Given the description of an element on the screen output the (x, y) to click on. 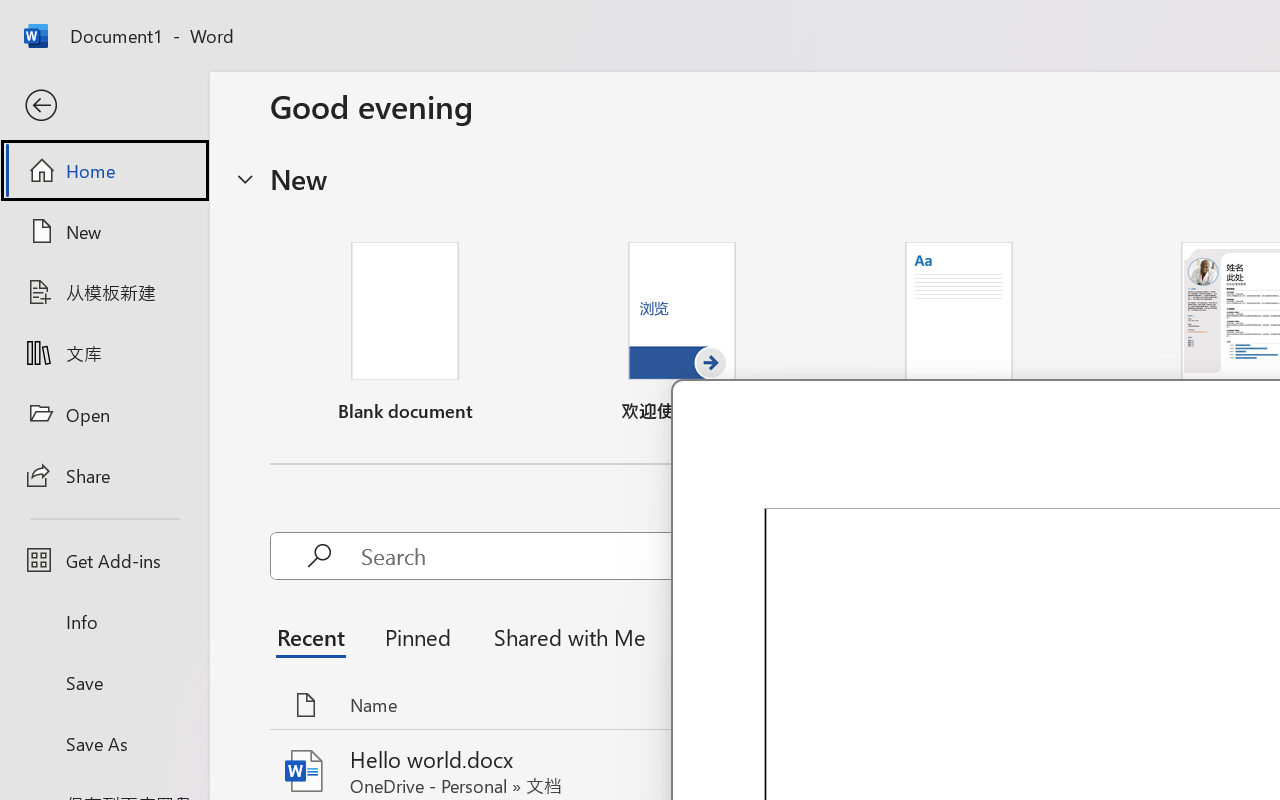
Save As (104, 743)
Info (104, 621)
Blank document (405, 332)
